Given the description of an element on the screen output the (x, y) to click on. 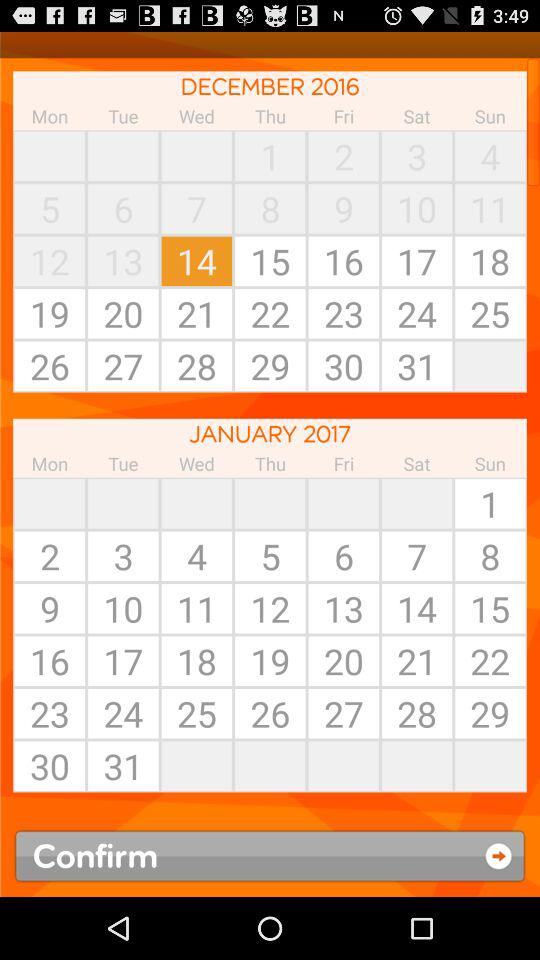
select the app next to the thu icon (196, 155)
